Given the description of an element on the screen output the (x, y) to click on. 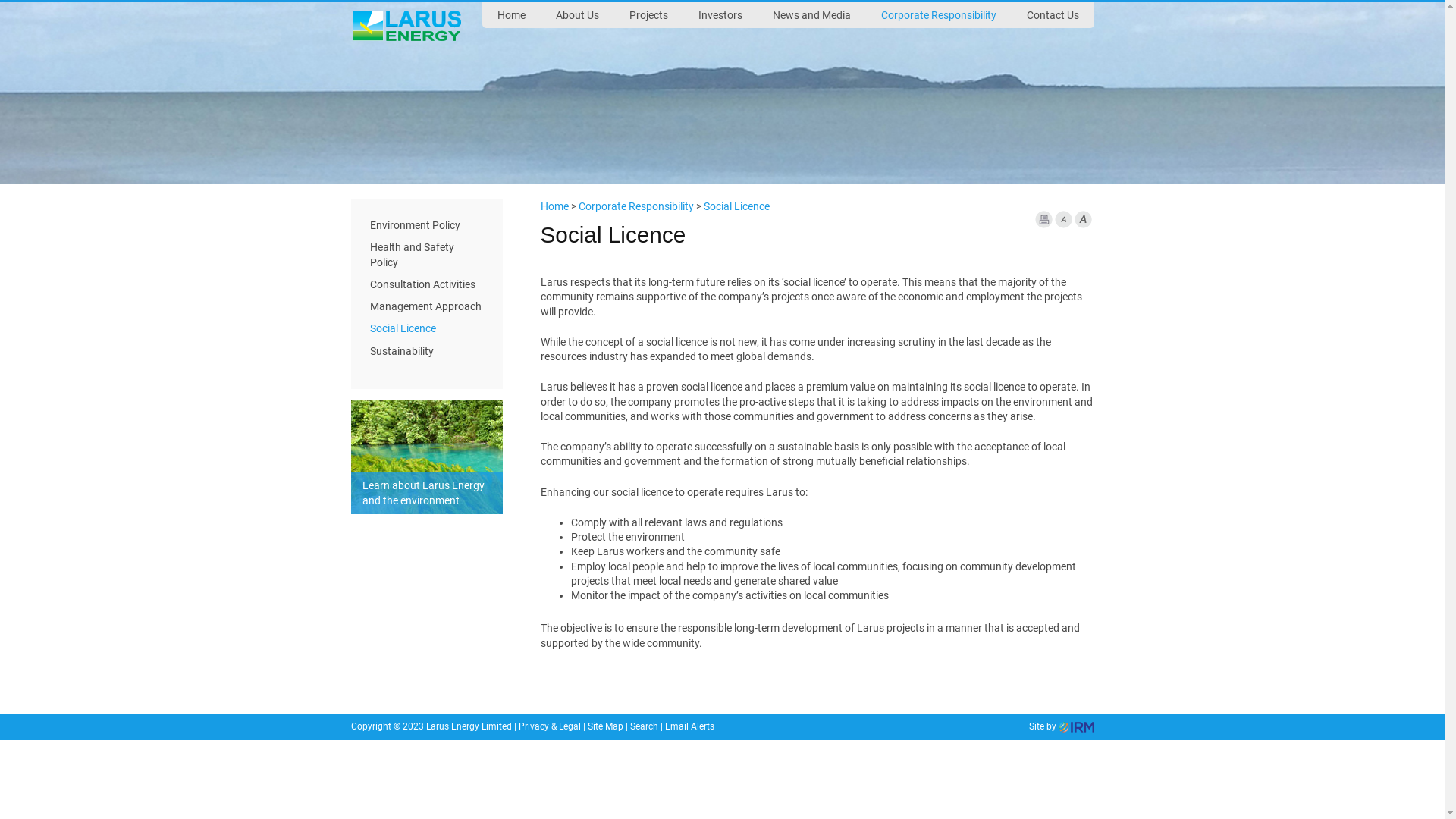
Social Licence Element type: text (425, 328)
Corporate Responsibility Element type: text (938, 15)
Sustainability Element type: text (425, 350)
Management Approach Element type: text (425, 306)
News and Media Element type: text (810, 15)
Search Element type: text (643, 726)
Privacy & Legal Element type: text (549, 726)
Health and Safety Policy Element type: text (425, 254)
Social Licence Element type: text (734, 206)
About Us Element type: text (576, 15)
Projects Element type: text (648, 15)
Learn about Larus Energy and the environment Element type: text (426, 493)
Font larger Element type: text (1082, 219)
Corporate Responsibility Element type: text (635, 206)
Home Element type: text (553, 206)
Email Alerts Element type: text (688, 726)
Consultation Activities Element type: text (425, 284)
Site Map Element type: text (604, 726)
Environment Policy Element type: text (425, 225)
Font Smaller Element type: text (1062, 219)
Home Element type: text (511, 15)
Site by Element type: text (1060, 726)
Investors Element type: text (719, 15)
Contact Us Element type: text (1052, 15)
Print Page Element type: text (1042, 219)
